Given the description of an element on the screen output the (x, y) to click on. 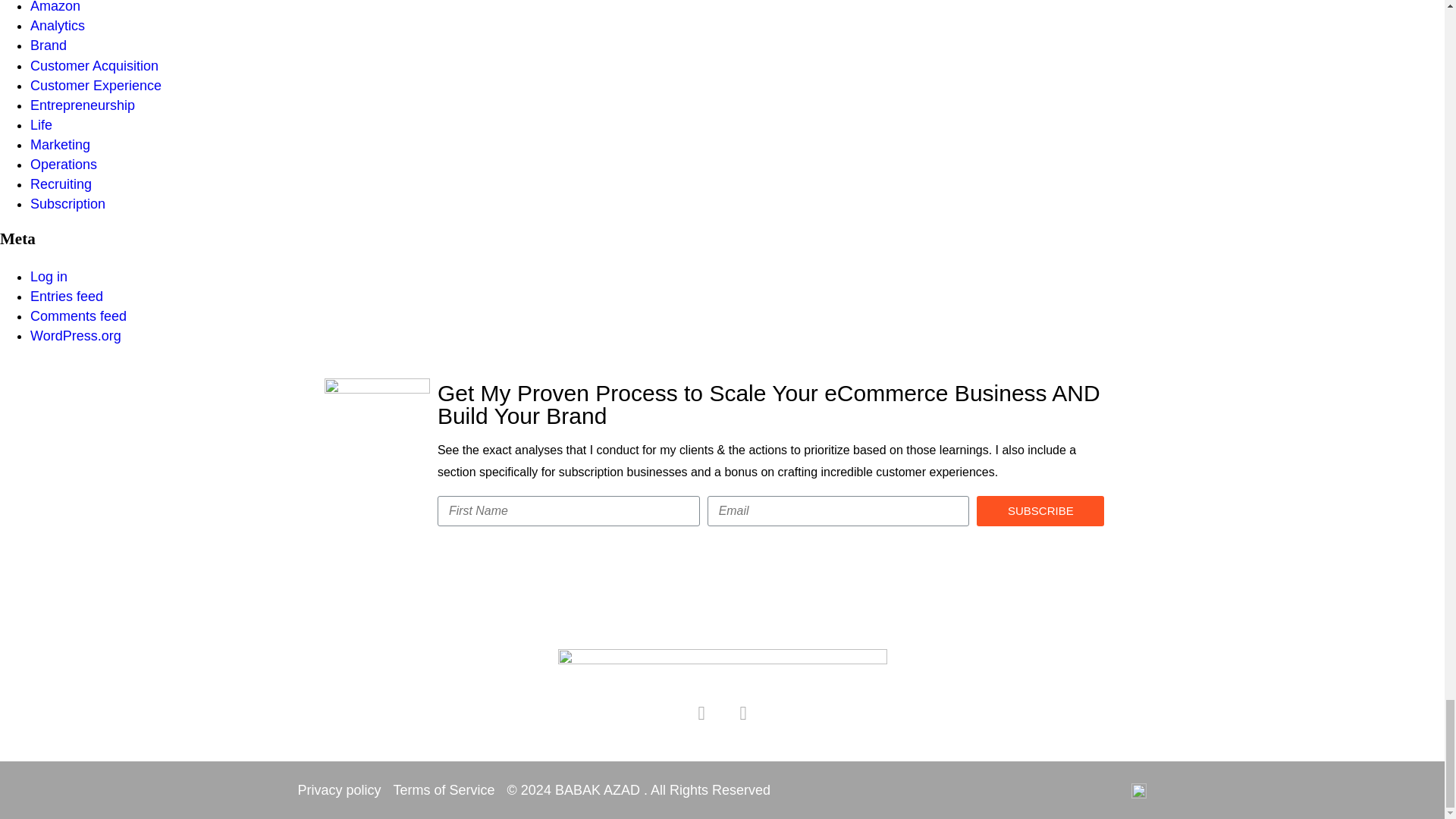
Subscribe (1039, 511)
